Given the description of an element on the screen output the (x, y) to click on. 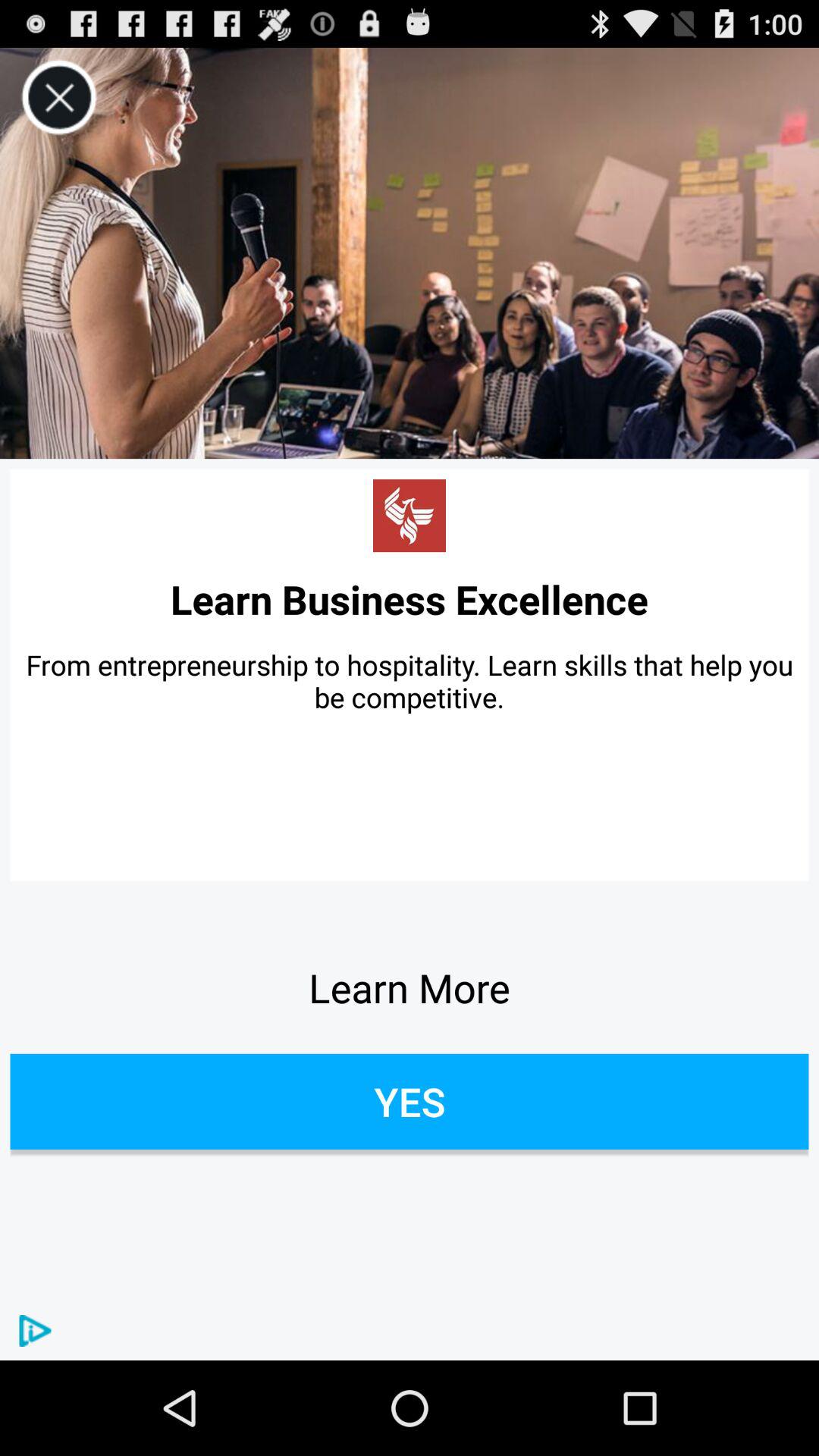
jump until the from entrepreneurship to app (409, 680)
